Given the description of an element on the screen output the (x, y) to click on. 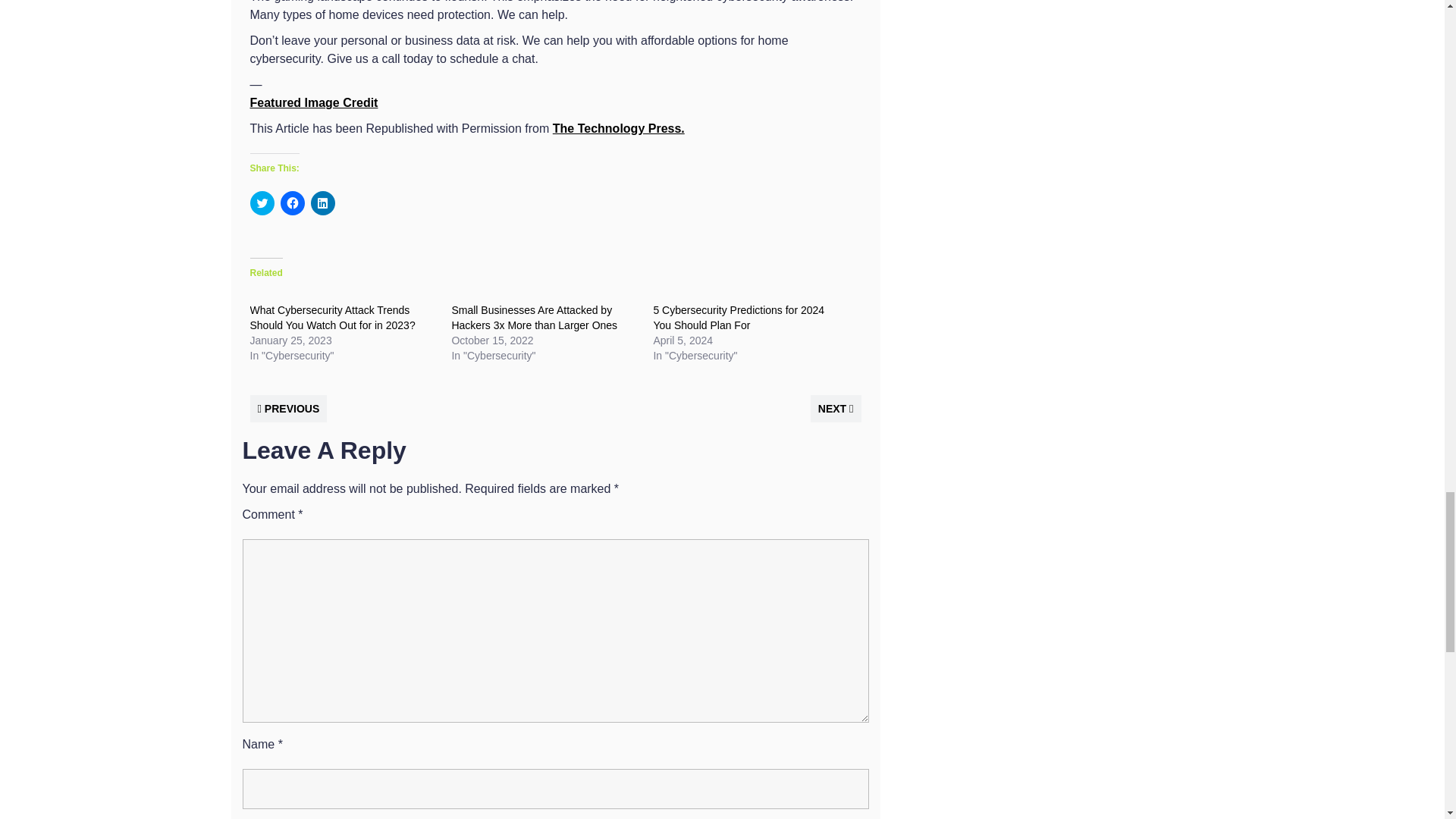
Click to share on LinkedIn (322, 202)
Click to share on Twitter (262, 202)
Click to share on Facebook (292, 202)
Gamers Beware! Hackers are Targeting You. (618, 128)
5 Cybersecurity Predictions for 2024 You Should Plan For (738, 317)
